Given the description of an element on the screen output the (x, y) to click on. 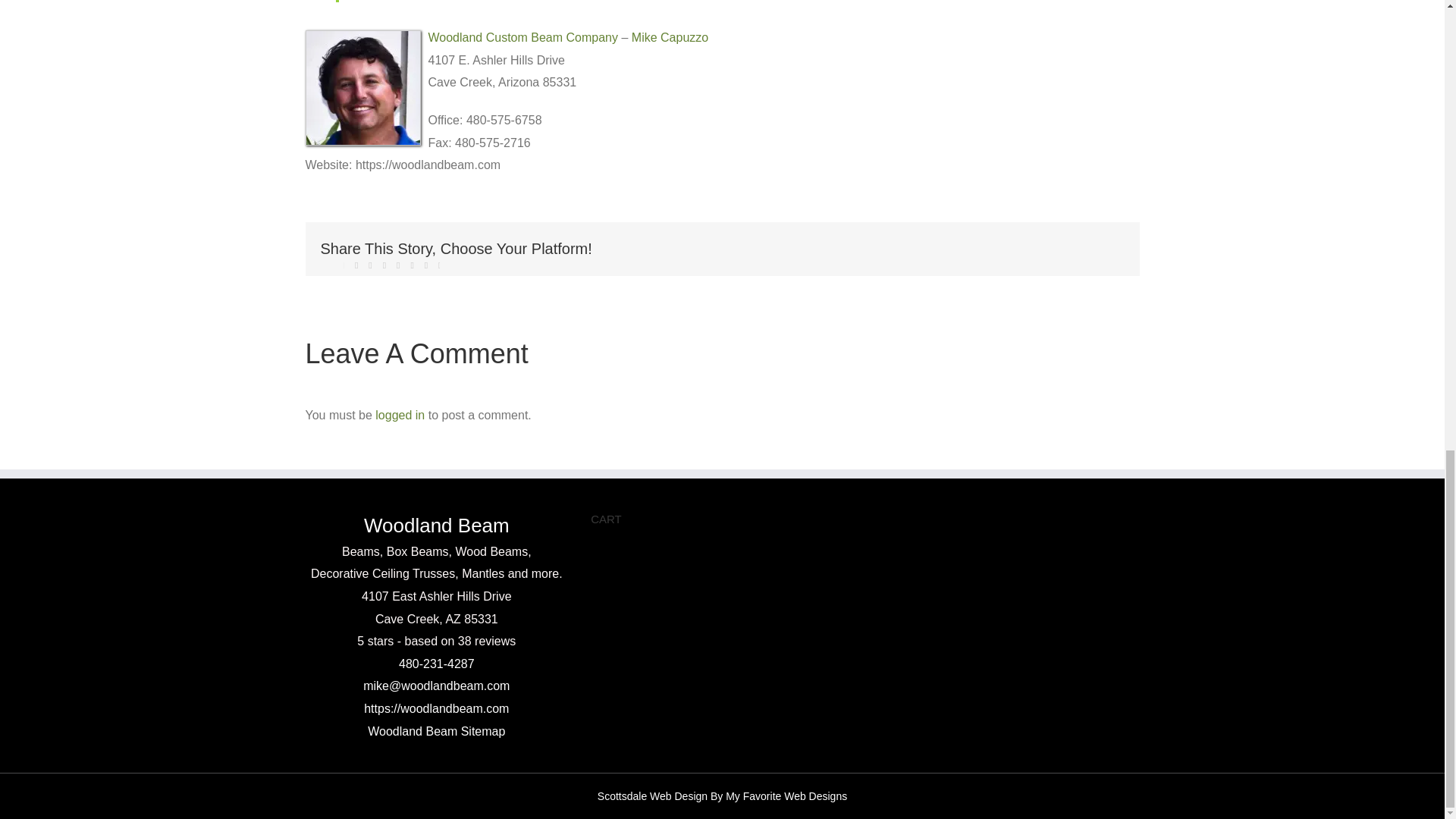
Woodland Custom Beam Company (522, 37)
Contact Decorative Box Beam Specialists (435, 685)
Mike Capuzzo Google Plus Profile (669, 37)
Woodland Custom Beam Company Google Plus Page (522, 37)
